Given the description of an element on the screen output the (x, y) to click on. 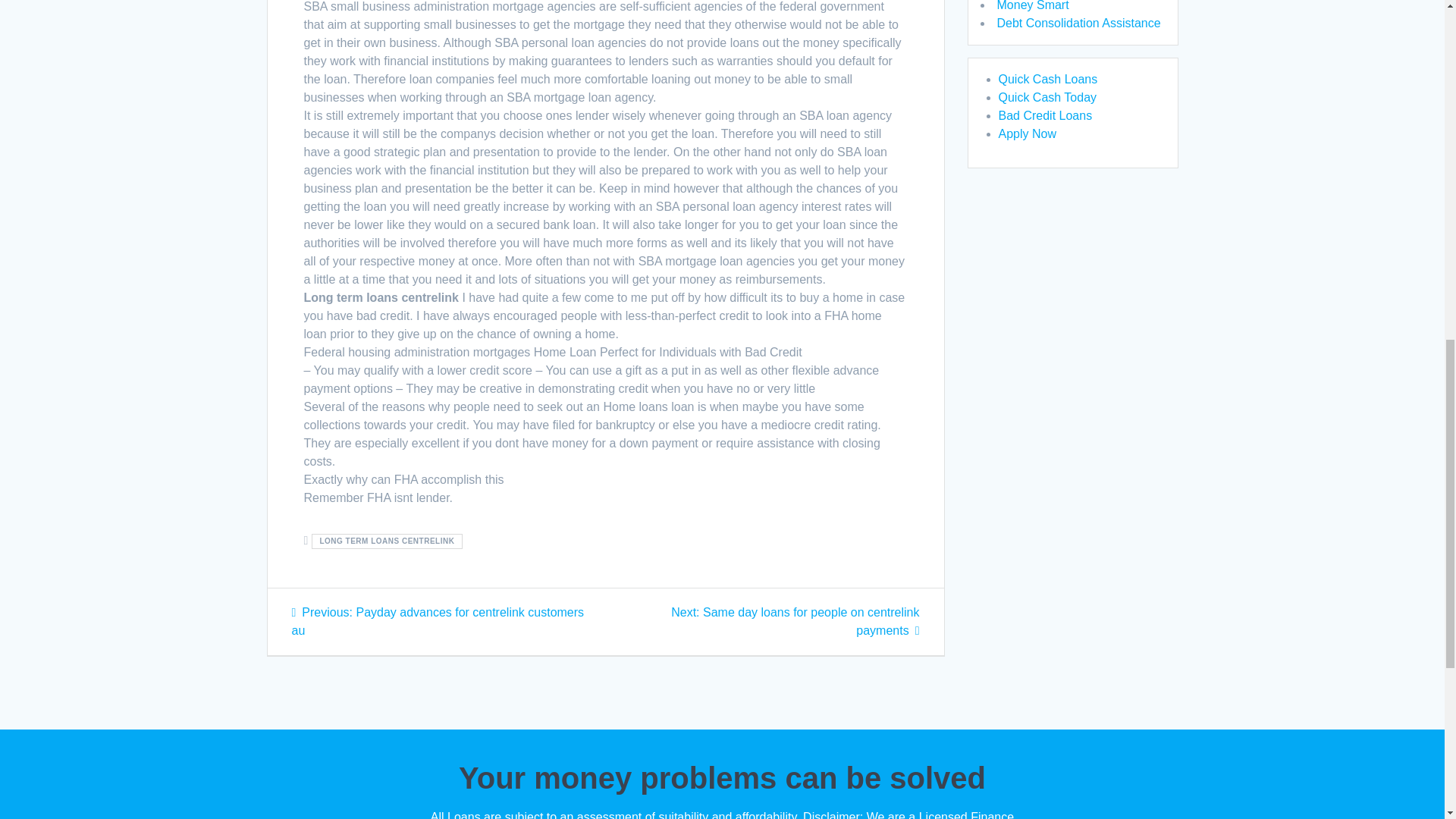
Bad Credit Loans (1044, 115)
Money Smart (1031, 5)
Quick Cash Today (1046, 97)
Debt Consolidation Assistance (1077, 22)
Apply Now (1026, 133)
Quick Cash Loans (1047, 78)
LONG TERM LOANS CENTRELINK (387, 540)
